Given the description of an element on the screen output the (x, y) to click on. 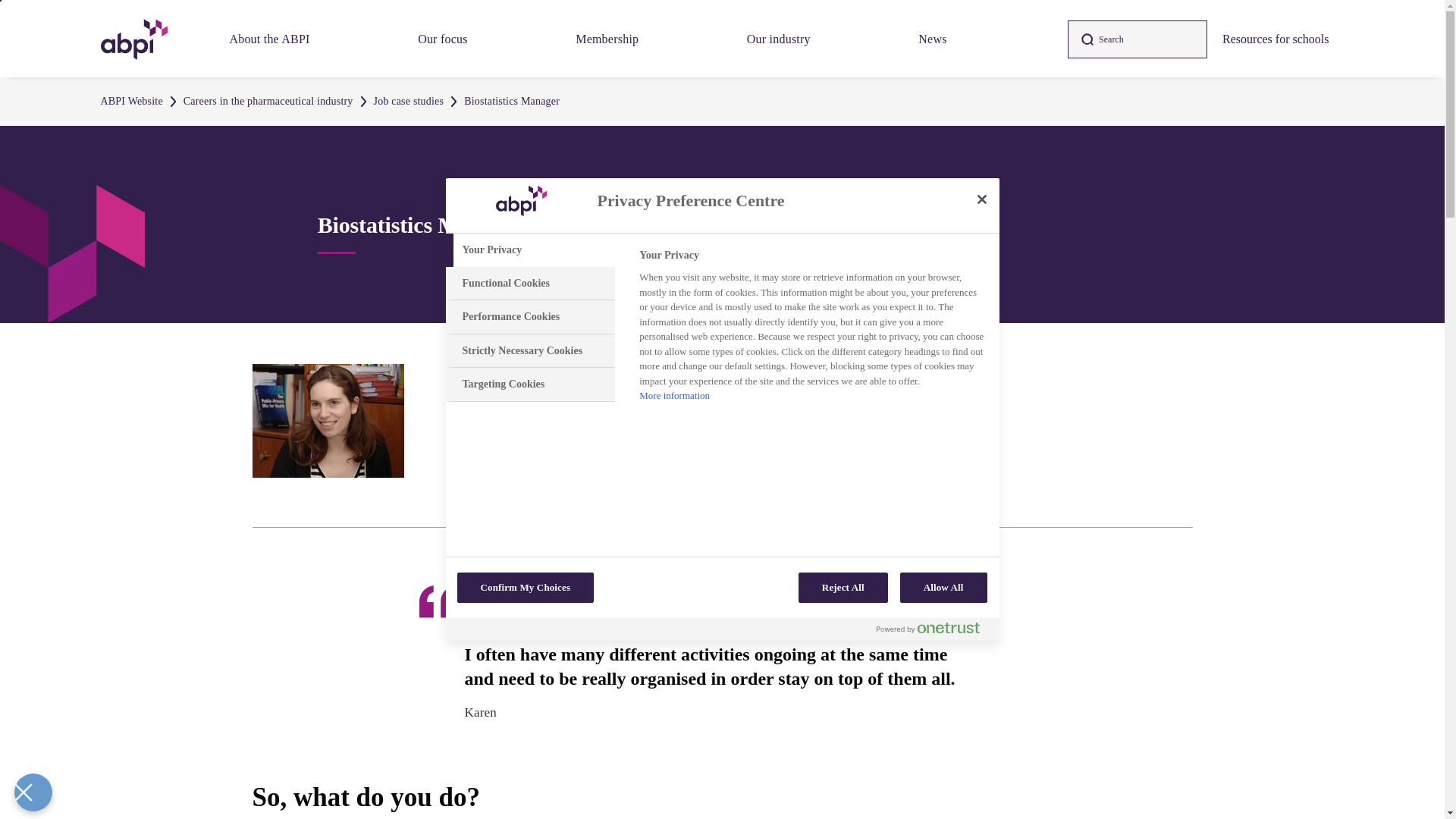
Cookies Settings (33, 792)
Powered by OneTrust Opens in a new Tab (927, 627)
